Given the description of an element on the screen output the (x, y) to click on. 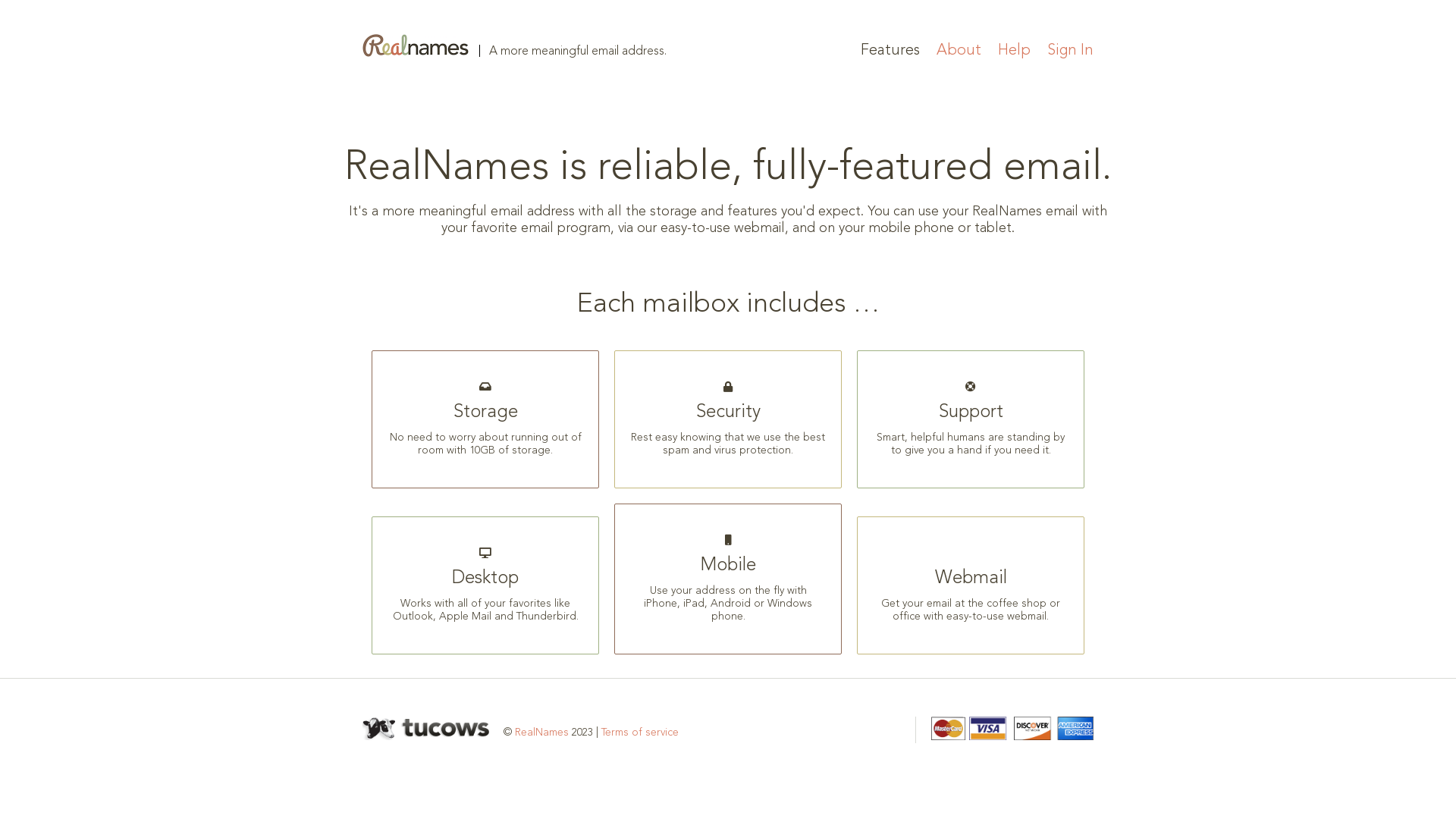
Terms of service Element type: text (639, 732)
RealNames Element type: text (541, 732)
Help Element type: text (1013, 50)
About Element type: text (958, 50)
Sign In Element type: text (1070, 50)
